Given the description of an element on the screen output the (x, y) to click on. 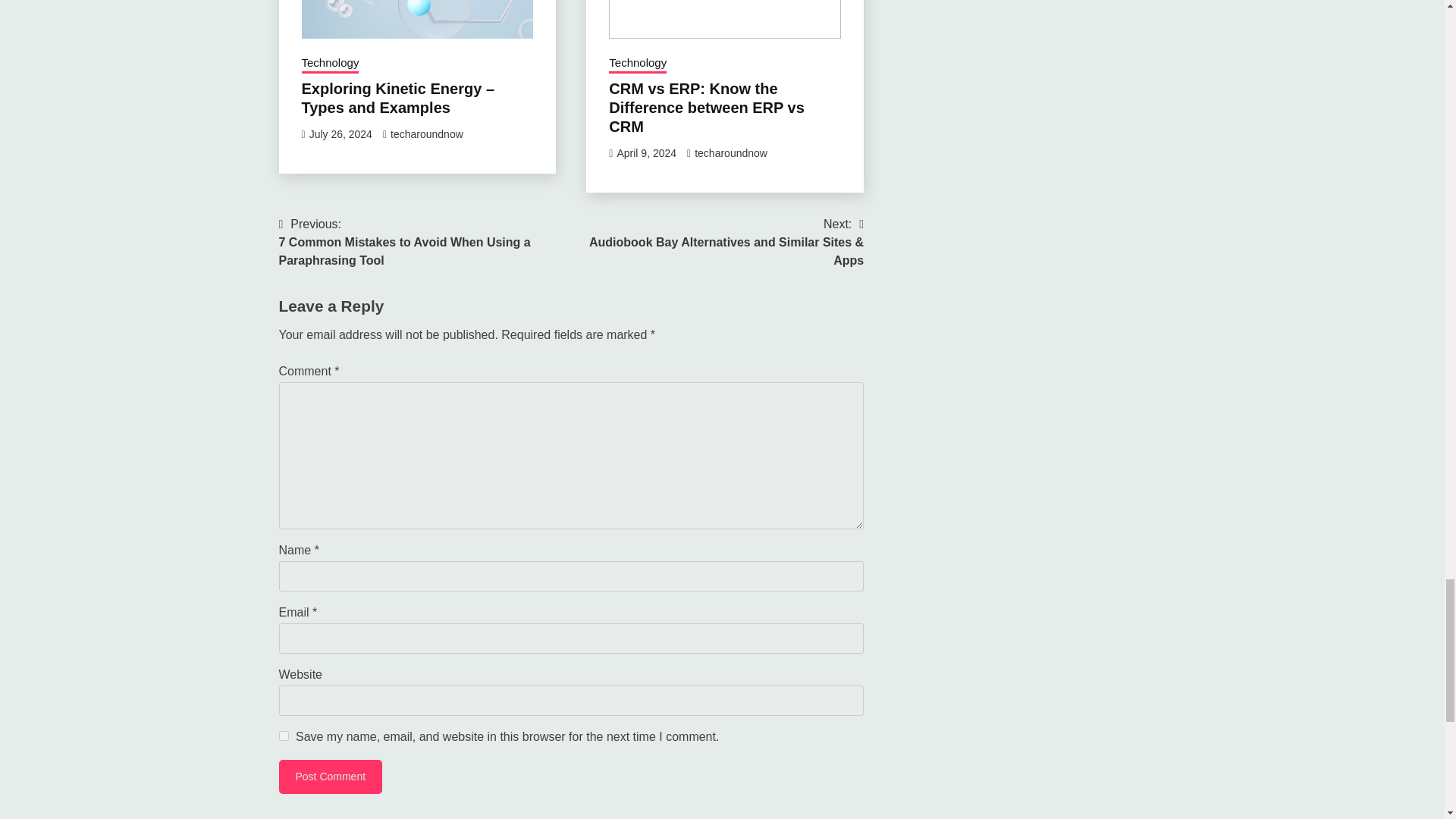
July 26, 2024 (340, 133)
Technology (637, 64)
techaroundnow (426, 133)
yes (283, 736)
techaroundnow (730, 152)
Technology (330, 64)
CRM vs ERP: Know the Difference between ERP vs CRM (706, 107)
Post Comment (330, 776)
April 9, 2024 (646, 152)
